Given the description of an element on the screen output the (x, y) to click on. 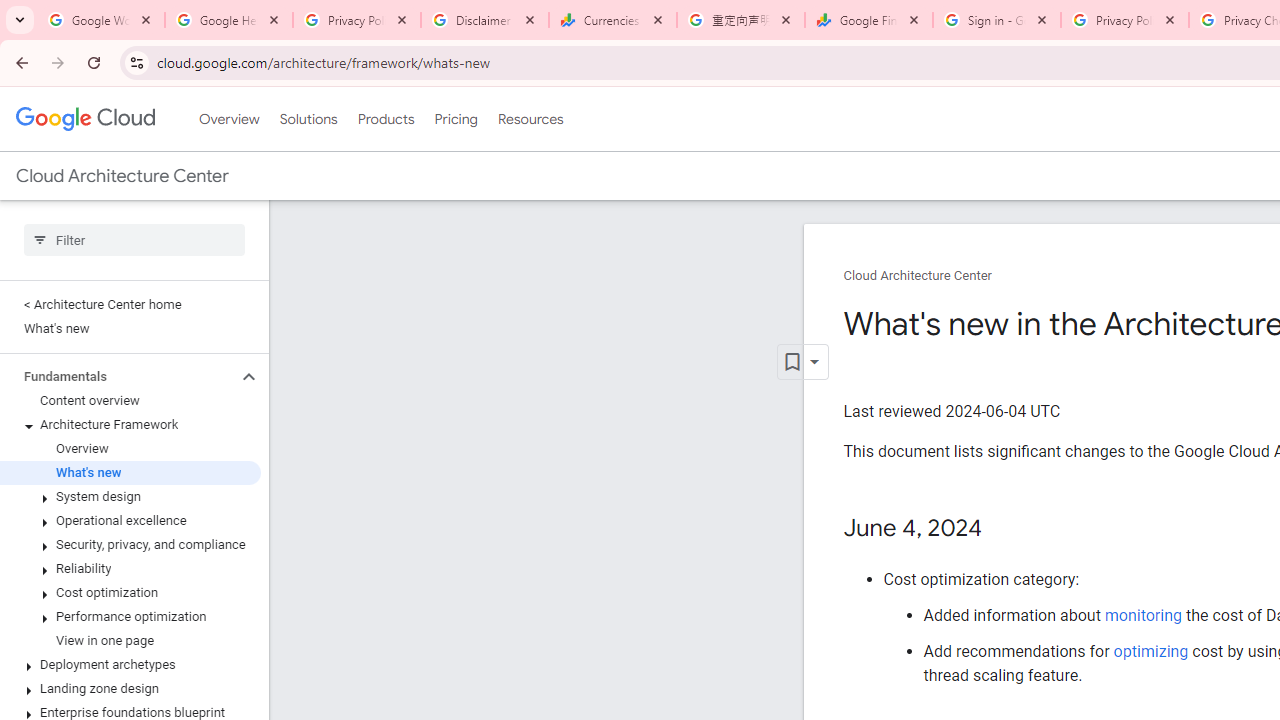
Deployment archetypes (130, 664)
Google Workspace Admin Community (101, 20)
< Architecture Center home (130, 304)
Pricing (455, 119)
Architecture Framework (130, 425)
Sign in - Google Accounts (997, 20)
Cloud Architecture Center (917, 276)
View in one page (130, 641)
